Given the description of an element on the screen output the (x, y) to click on. 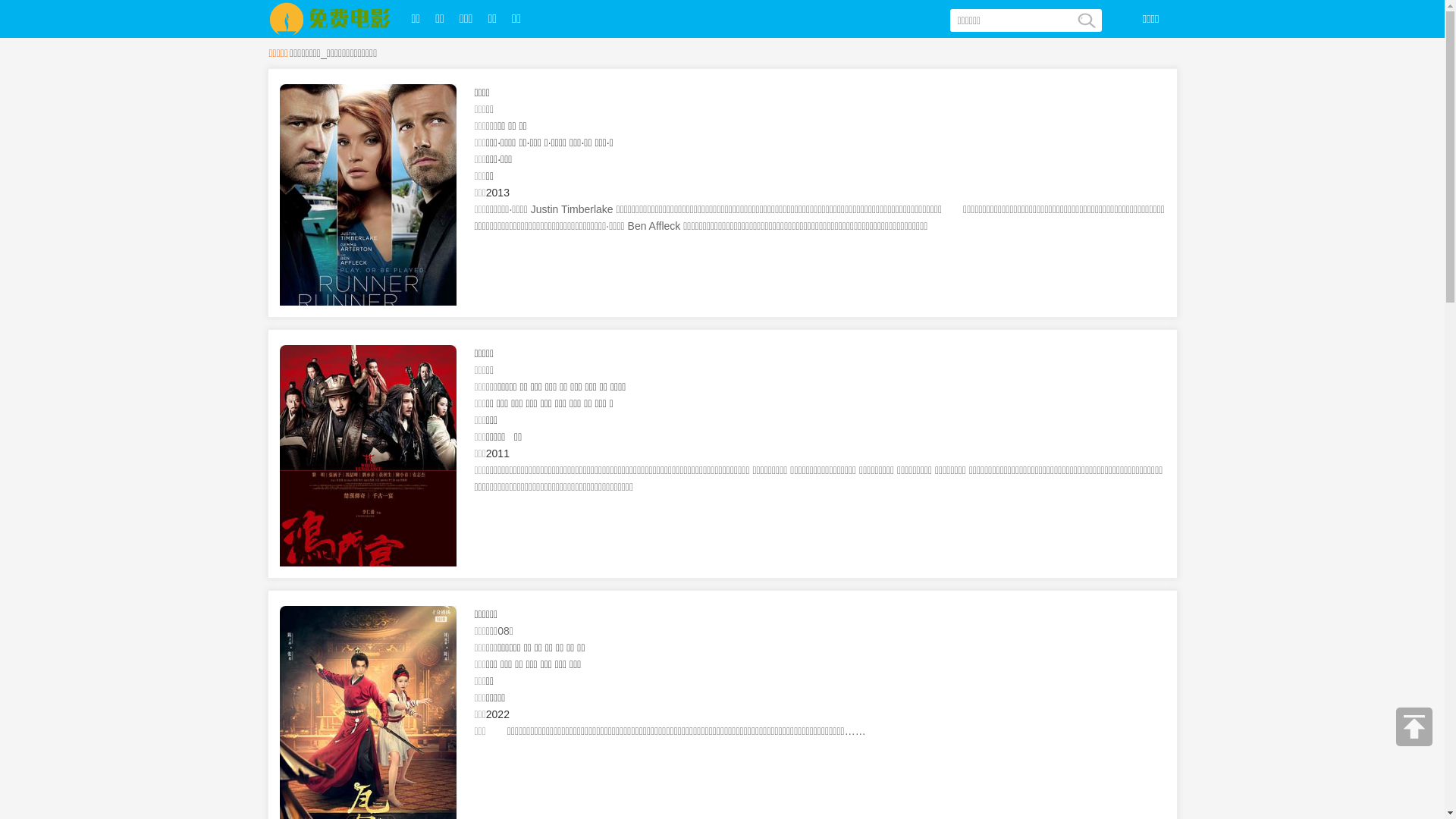
2011 Element type: text (497, 453)
2013 Element type: text (497, 192)
2022 Element type: text (497, 714)
